Given the description of an element on the screen output the (x, y) to click on. 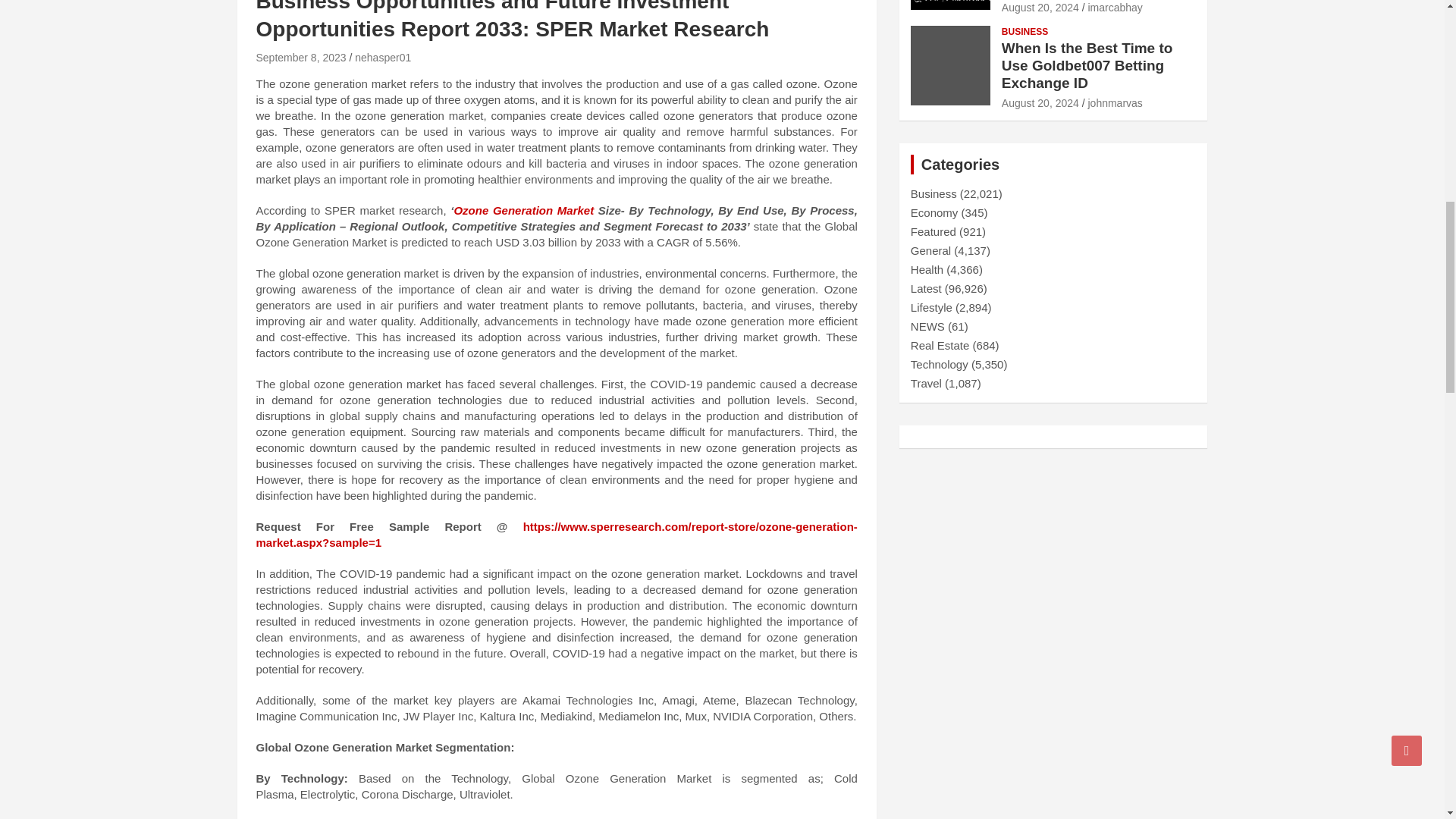
September 8, 2023 (301, 57)
Ozone Generation Market (523, 210)
When Is the Best Time to Use Goldbet007 Betting Exchange ID (1039, 102)
nehasper01 (382, 57)
